Given the description of an element on the screen output the (x, y) to click on. 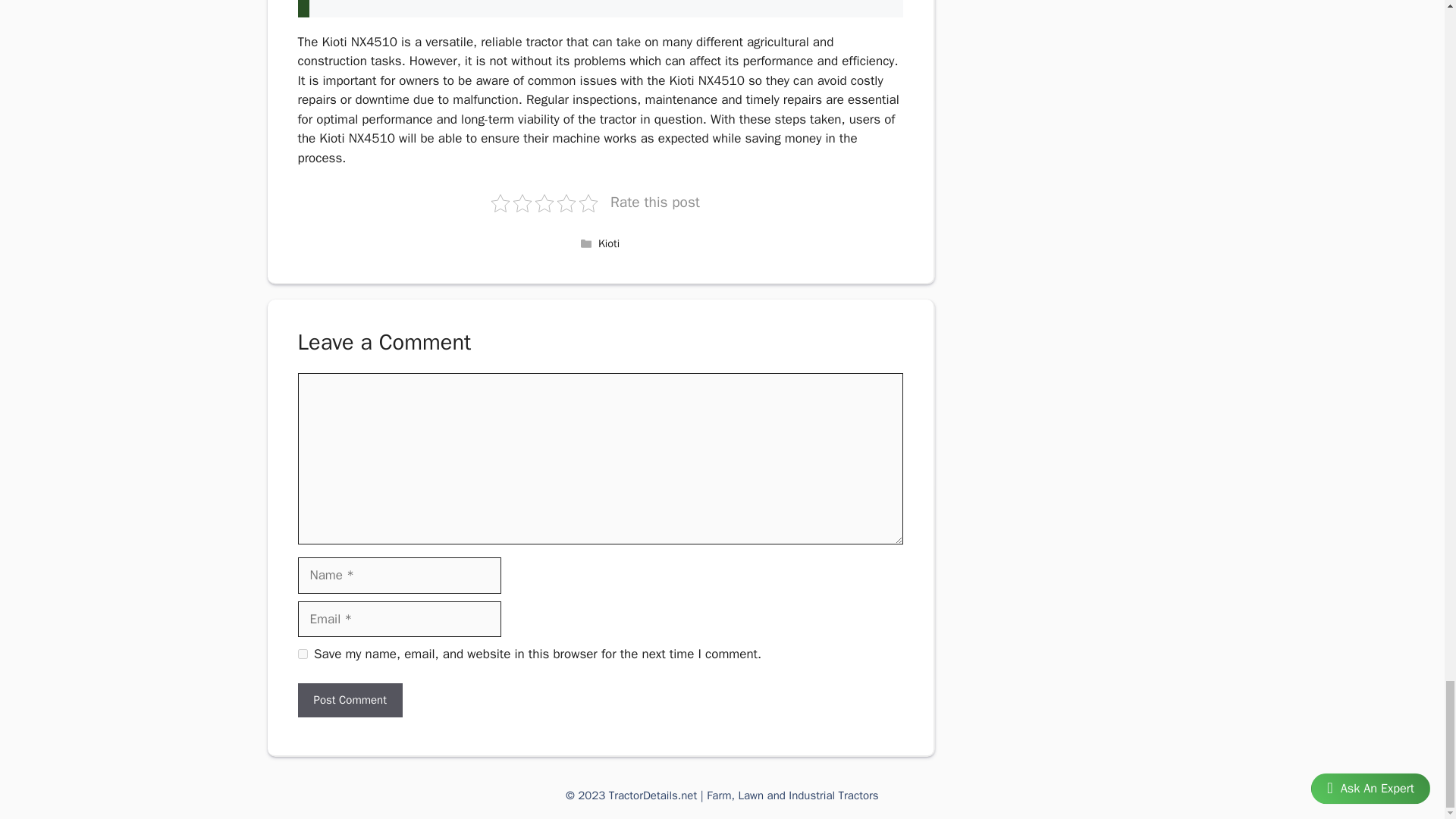
Post Comment (349, 700)
Post Comment (349, 700)
Kioti (609, 243)
yes (302, 654)
